Given the description of an element on the screen output the (x, y) to click on. 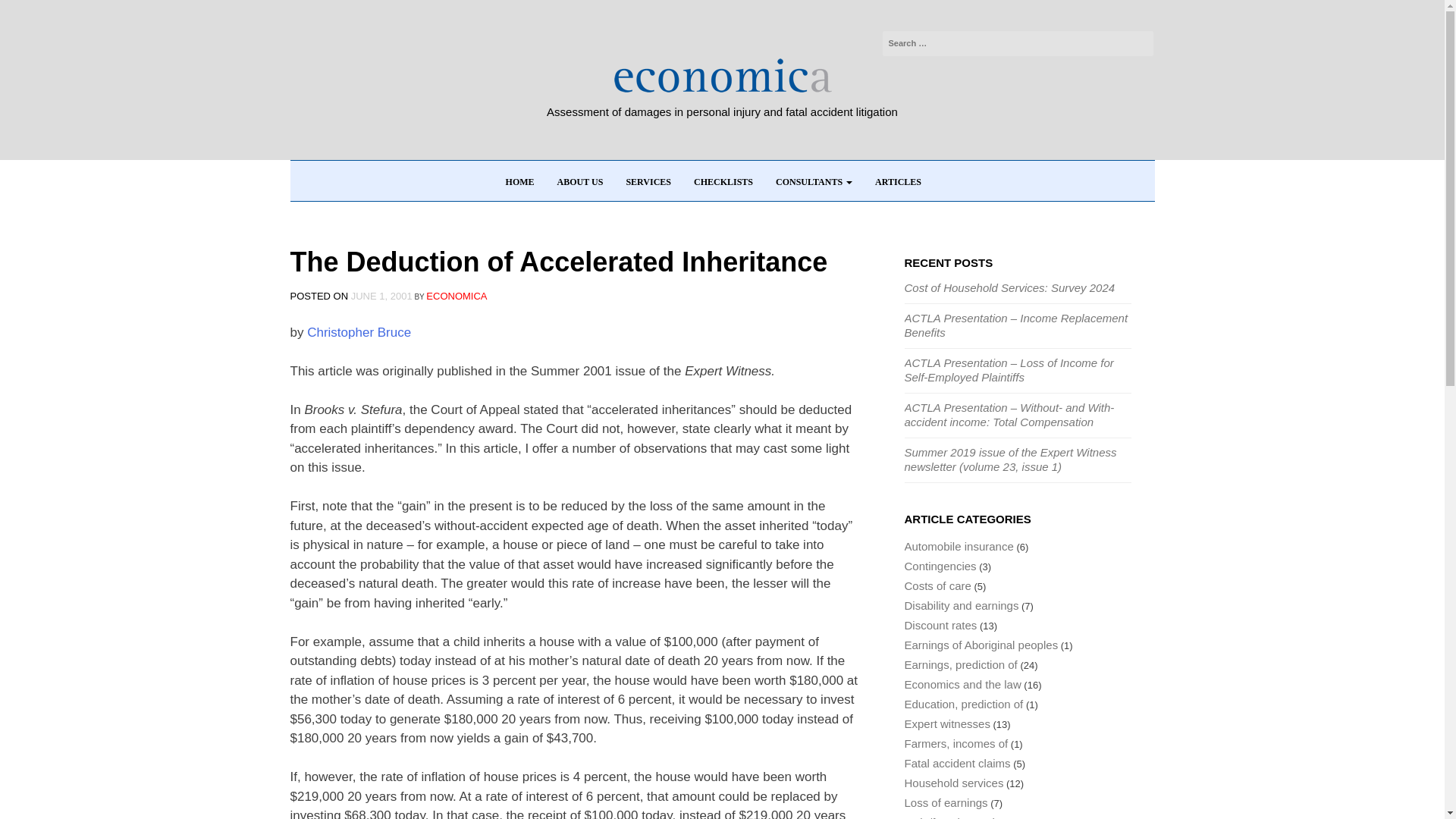
Costs of care (937, 585)
Earnings of Aboriginal peoples (981, 644)
Articles (898, 181)
ARTICLES (898, 181)
Information about Christopher Bruce (358, 332)
Consultants (813, 181)
CONSULTANTS (813, 181)
Home (520, 181)
About Us (580, 181)
CHECKLISTS (723, 181)
